Given the description of an element on the screen output the (x, y) to click on. 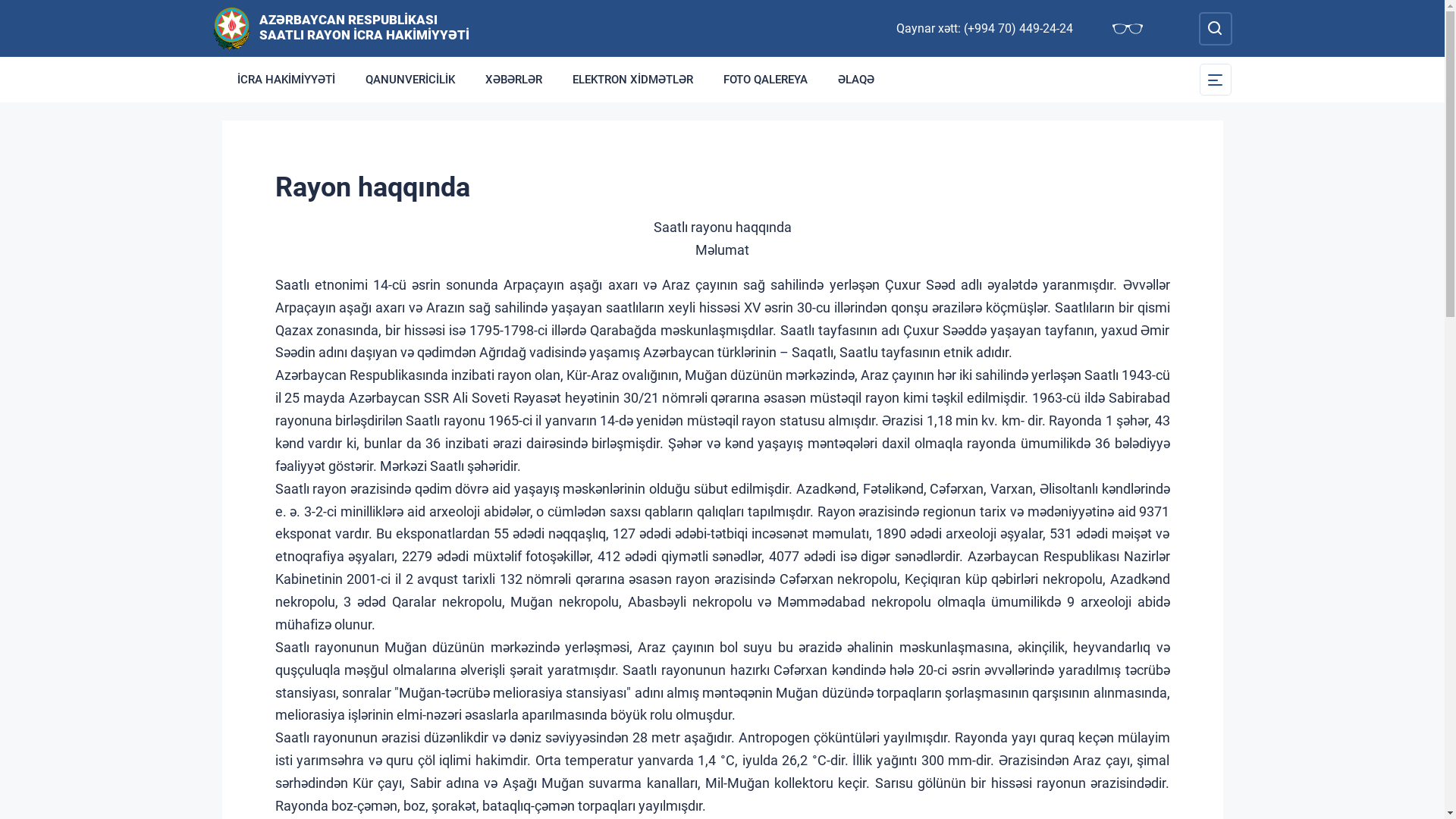
QANUNVERICILIK Element type: text (410, 79)
FOTO QALEREYA Element type: text (765, 79)
